Given the description of an element on the screen output the (x, y) to click on. 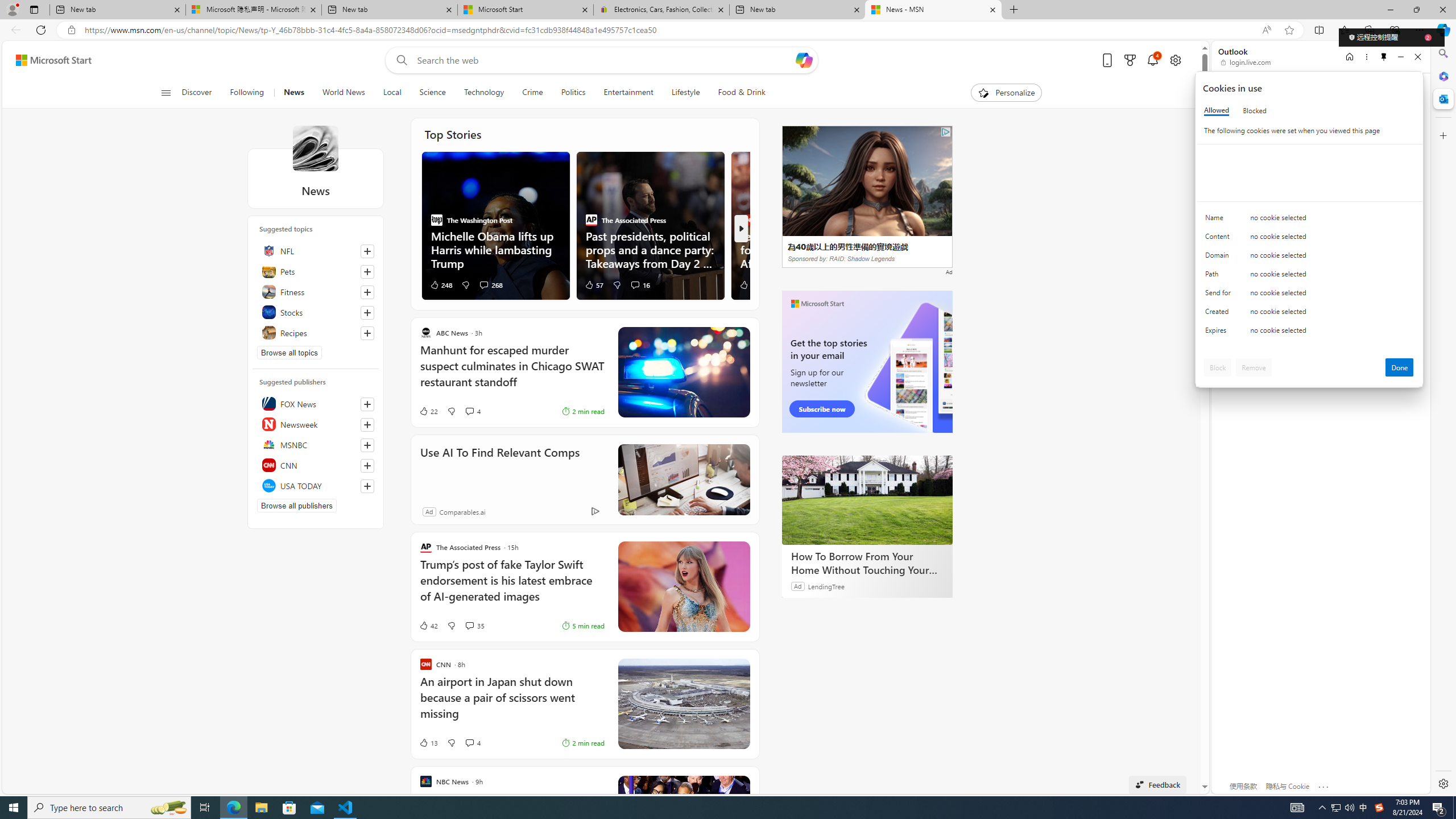
57 Like (593, 284)
13 Like (427, 742)
no cookie selected (1331, 332)
An aerial shot of New Chitose Airport in Hokkaido, Japan. (683, 703)
NFL (315, 250)
Pets (315, 270)
